Given the description of an element on the screen output the (x, y) to click on. 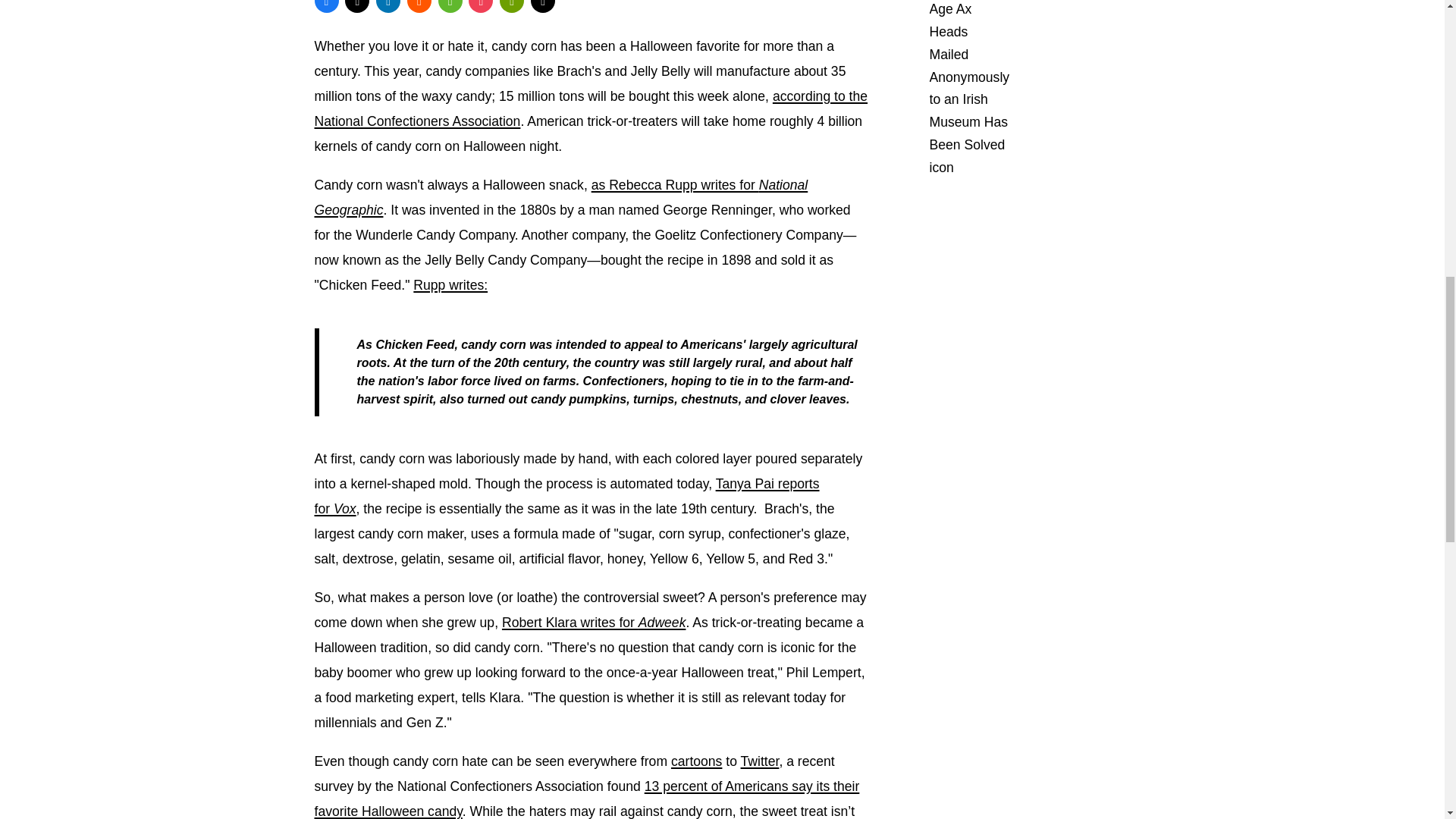
Pocket (480, 6)
Reddit (418, 6)
Facebook (325, 6)
Email (542, 6)
Print (511, 6)
Twitter (357, 6)
LinkedIn (387, 6)
WhatsApp (450, 6)
